Given the description of an element on the screen output the (x, y) to click on. 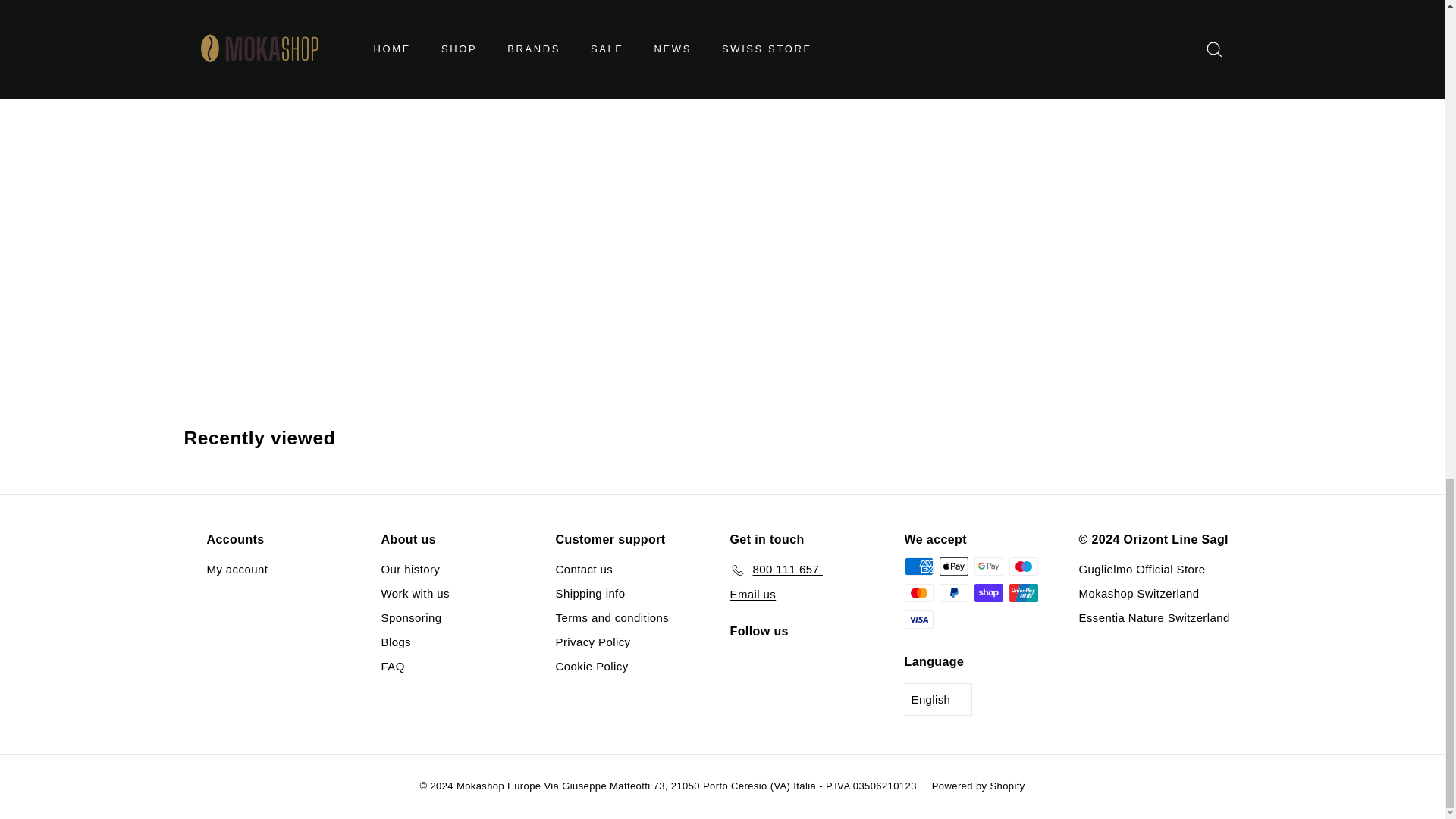
American Express (918, 566)
Maestro (1022, 566)
Google Pay (988, 566)
Shop Pay (988, 592)
Mastercard (918, 592)
Apple Pay (953, 566)
Union Pay (1022, 592)
Twinings (324, 46)
PayPal (953, 592)
Visa (918, 619)
